Given the description of an element on the screen output the (x, y) to click on. 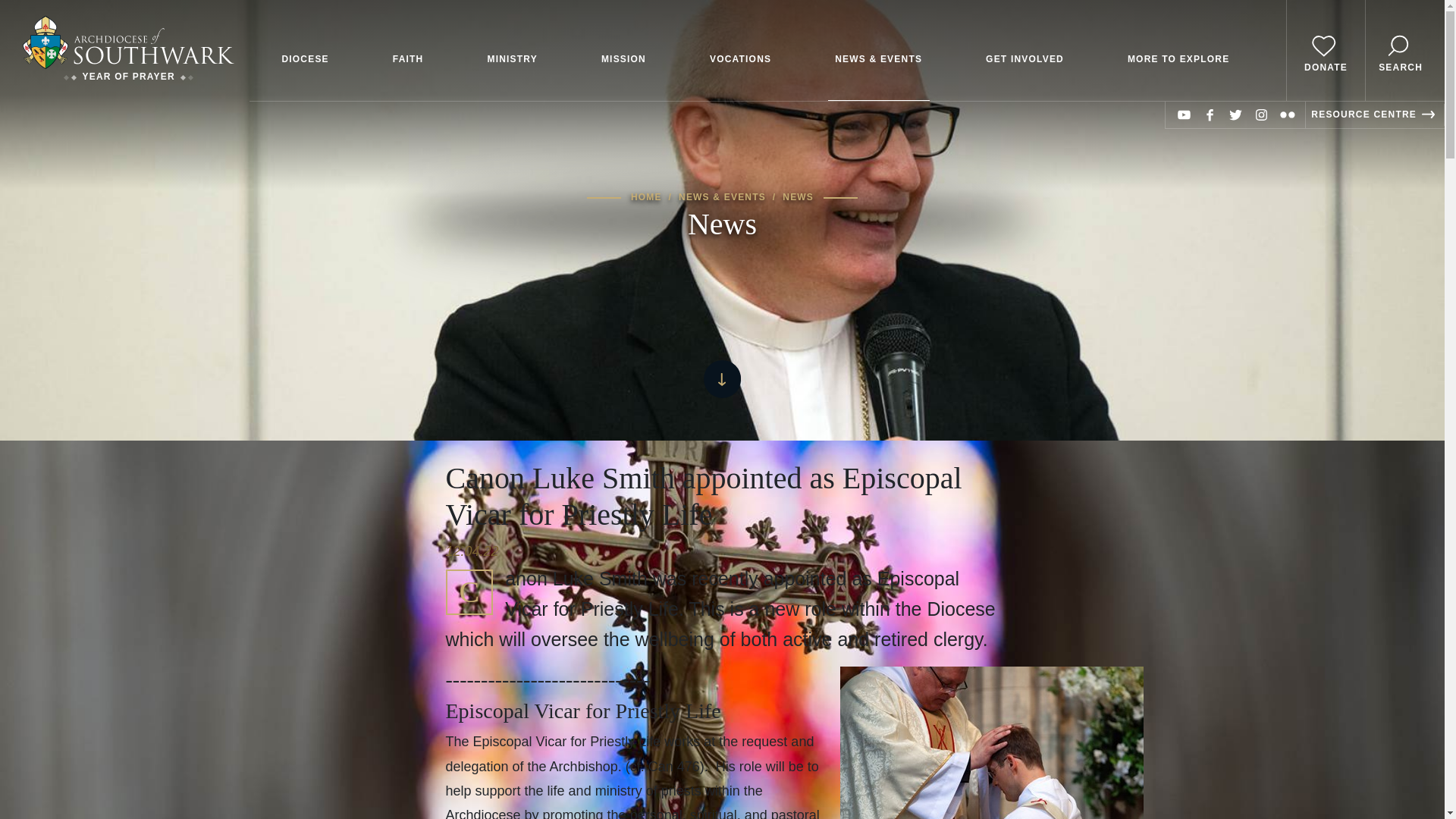
MISSION (623, 50)
DIOCESE (305, 50)
MINISTRY (512, 50)
FAITH (407, 50)
